Given the description of an element on the screen output the (x, y) to click on. 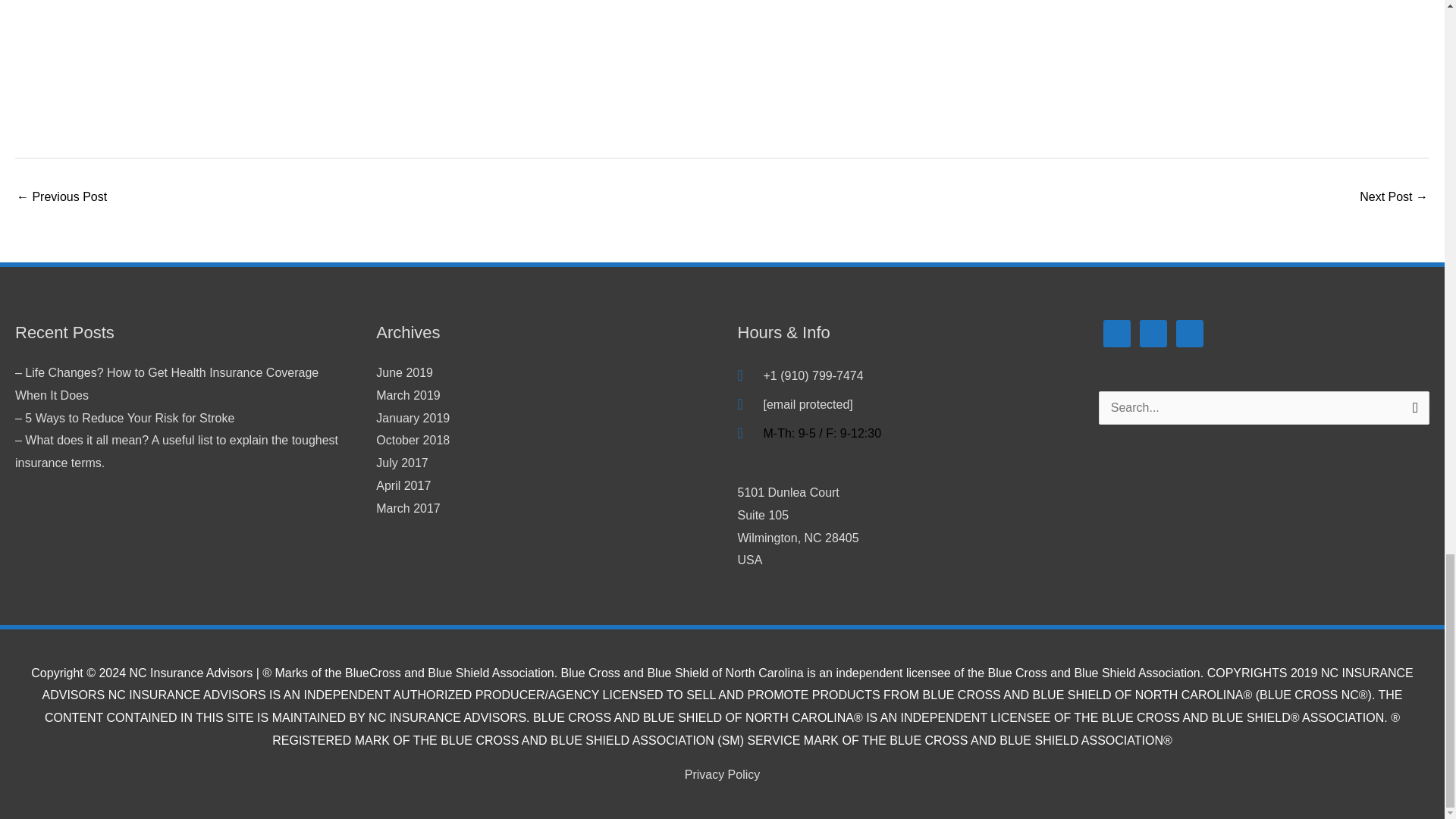
Privacy Policy (722, 774)
January 2019 (412, 418)
Employer Group Plans (1393, 198)
Open address in Google Maps (901, 526)
June 2019 (901, 526)
Why do I need to look at long-term care insurance? (403, 372)
April 2017 (61, 198)
March 2019 (402, 485)
October 2018 (408, 395)
March 2017 (412, 440)
July 2017 (408, 508)
